Given the description of an element on the screen output the (x, y) to click on. 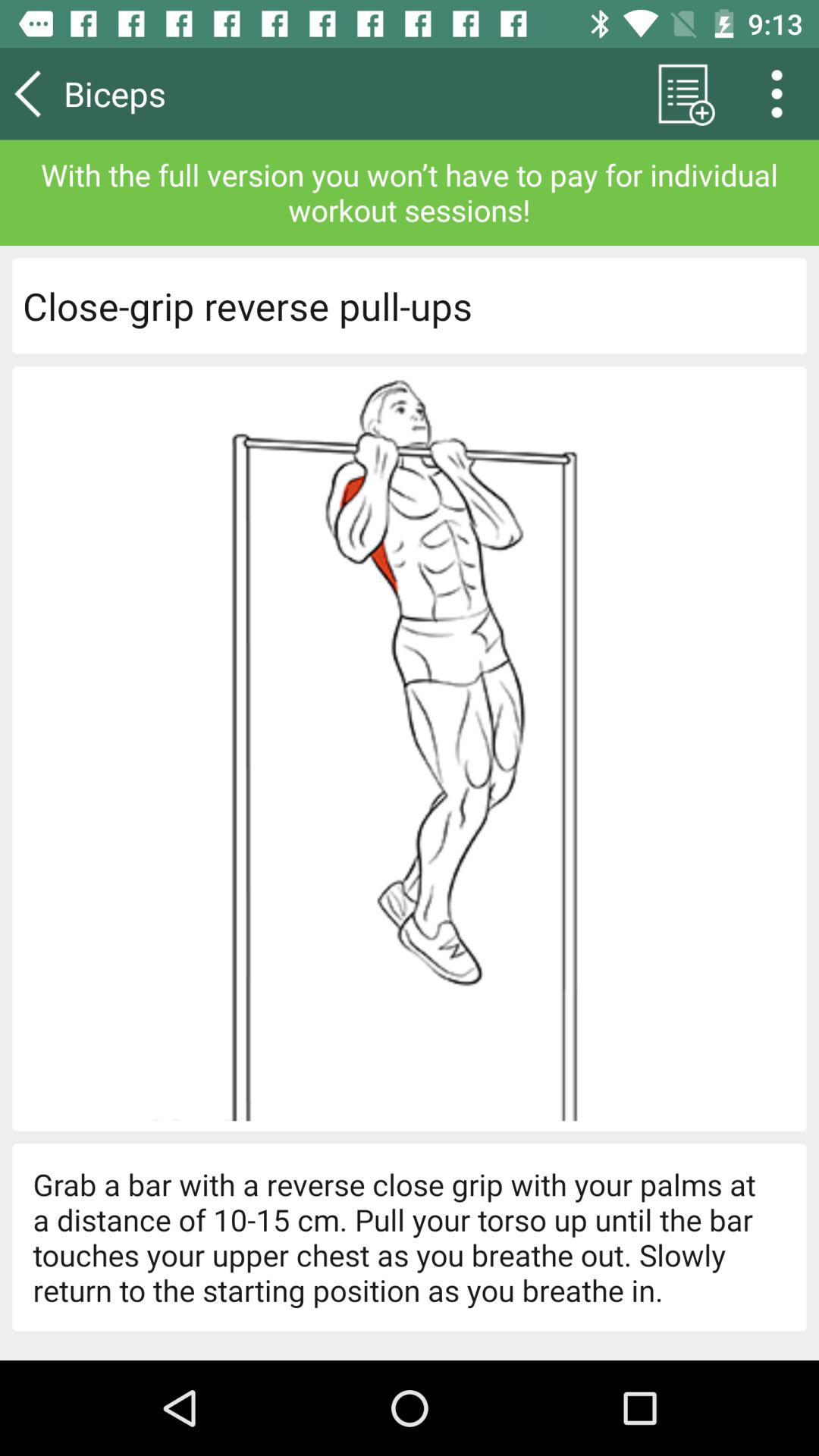
choose app above with the full (782, 93)
